Given the description of an element on the screen output the (x, y) to click on. 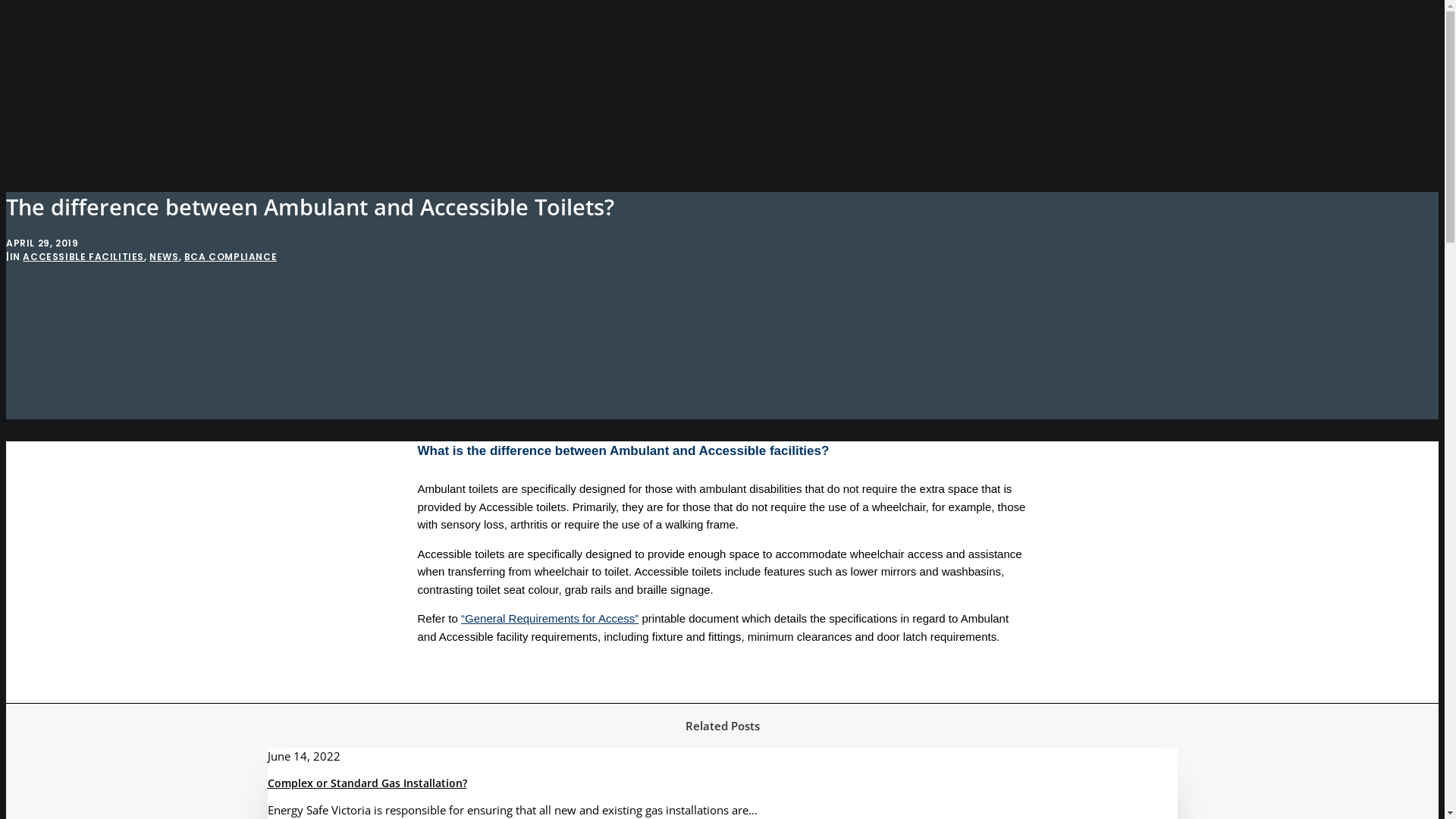
BCA COMPLIANCE Element type: text (230, 256)
ACCESSIBLE FACILITIES Element type: text (83, 256)
Complex or Standard Gas Installation? Element type: text (366, 782)
NEWS Element type: text (163, 256)
